Given the description of an element on the screen output the (x, y) to click on. 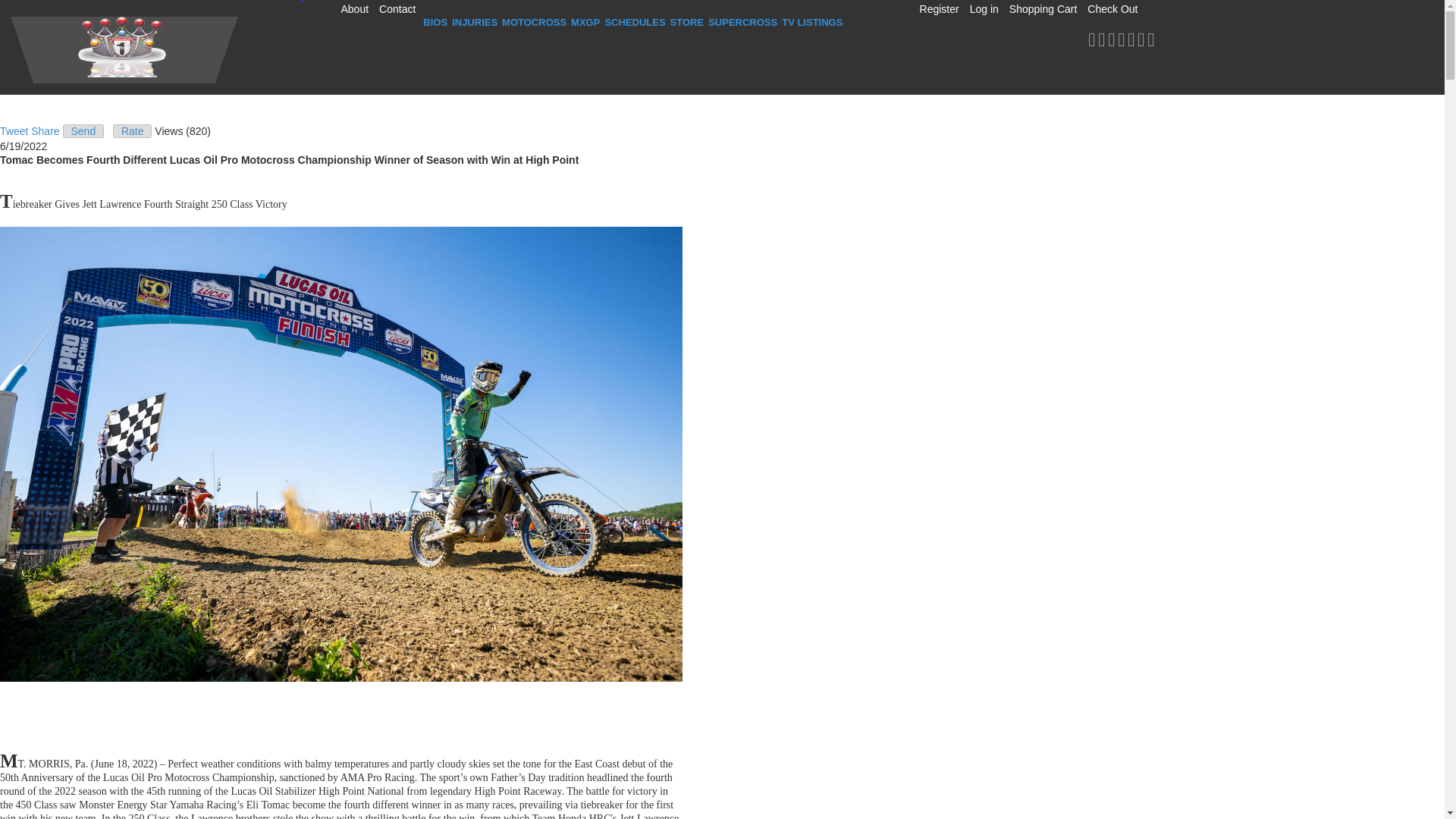
STORE (686, 22)
Supercross (742, 22)
MOTOCROSS (534, 22)
Share (44, 131)
Send (83, 131)
Log in (983, 9)
Rate (132, 131)
Contact (397, 9)
BIOS (434, 22)
